Given the description of an element on the screen output the (x, y) to click on. 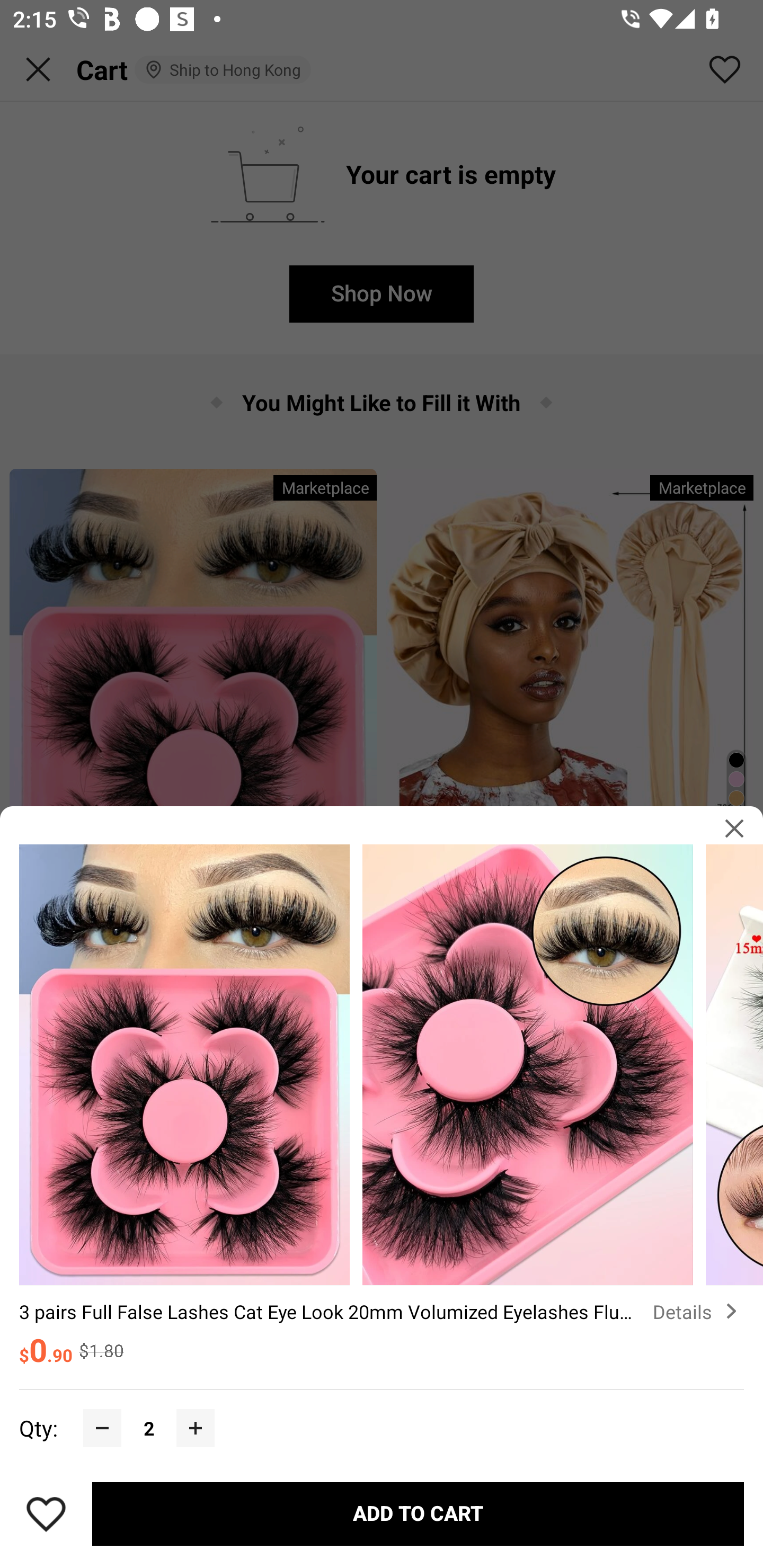
Details (698, 1311)
ADD TO CART (417, 1513)
Save (46, 1513)
